Given the description of an element on the screen output the (x, y) to click on. 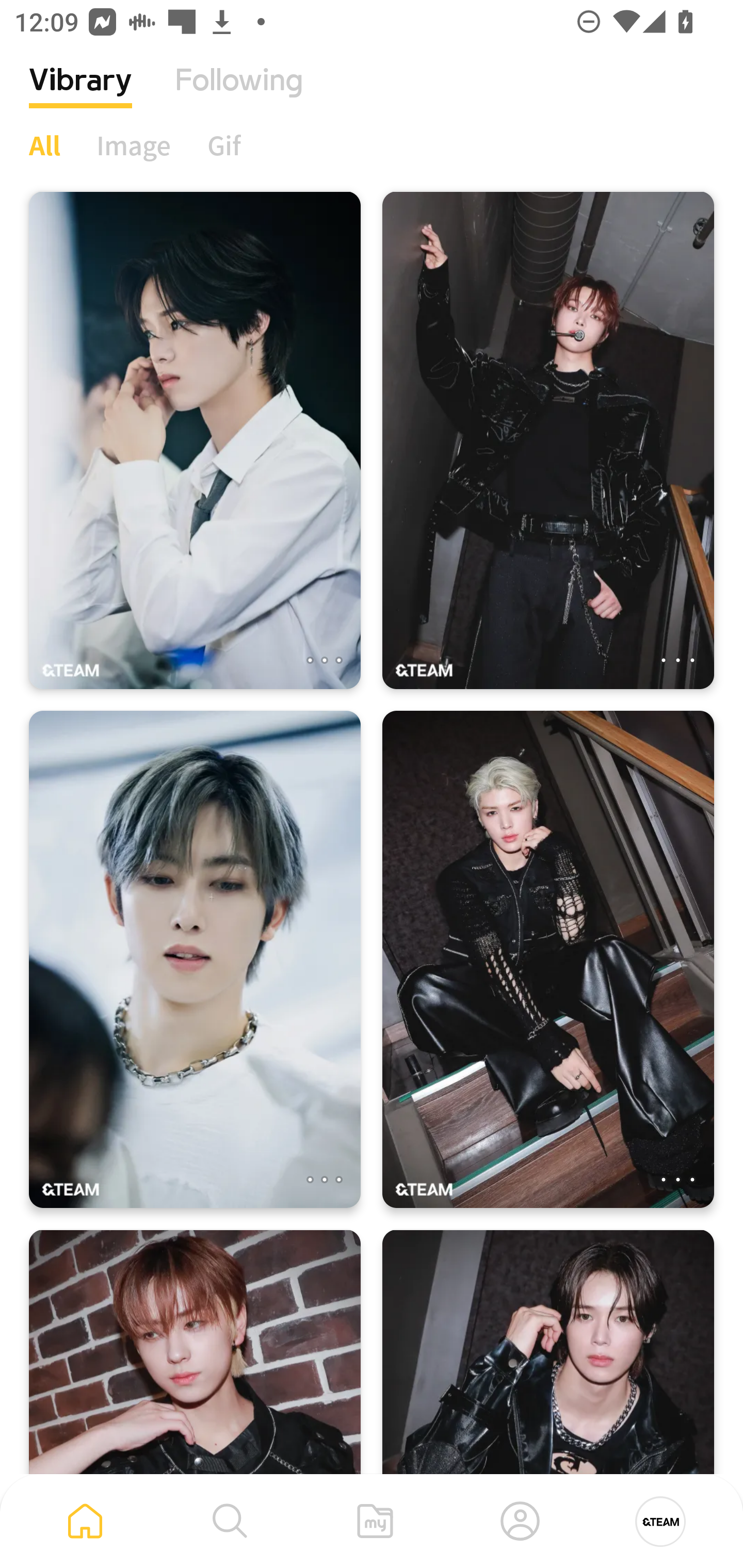
Vibrary (80, 95)
Following (239, 95)
All (44, 145)
Image (133, 145)
Gif (223, 145)
